Given the description of an element on the screen output the (x, y) to click on. 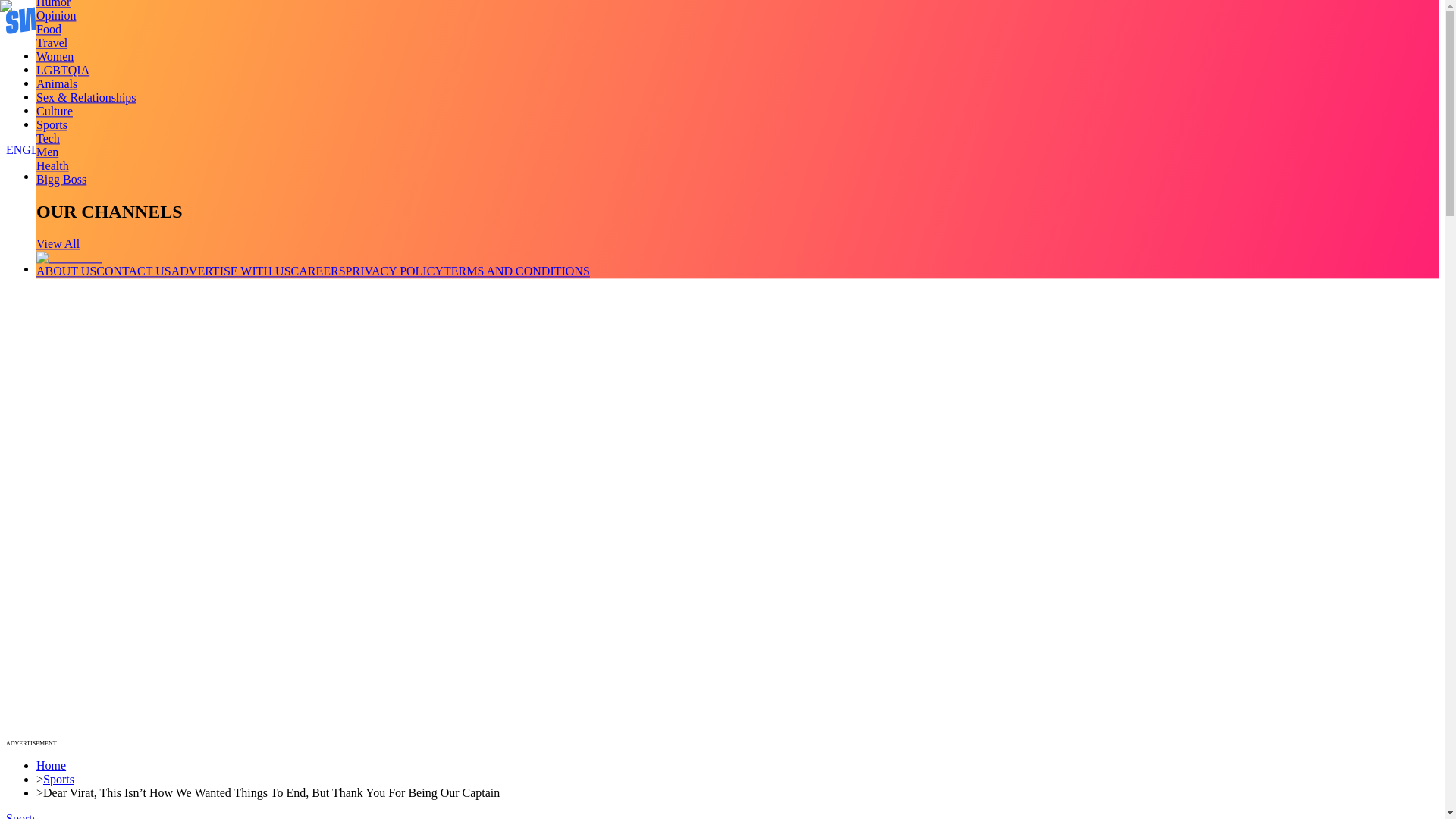
Quizzes (55, 96)
Women (55, 56)
Opinion (55, 15)
Health (52, 164)
Food (48, 29)
Trending (58, 55)
Travel (51, 42)
Sports (51, 124)
LGBTQIA (62, 69)
Bigg Boss (60, 178)
Videos (52, 69)
ABOUT US (66, 270)
Men (47, 151)
ENGLISH (31, 149)
Animals (56, 83)
